Given the description of an element on the screen output the (x, y) to click on. 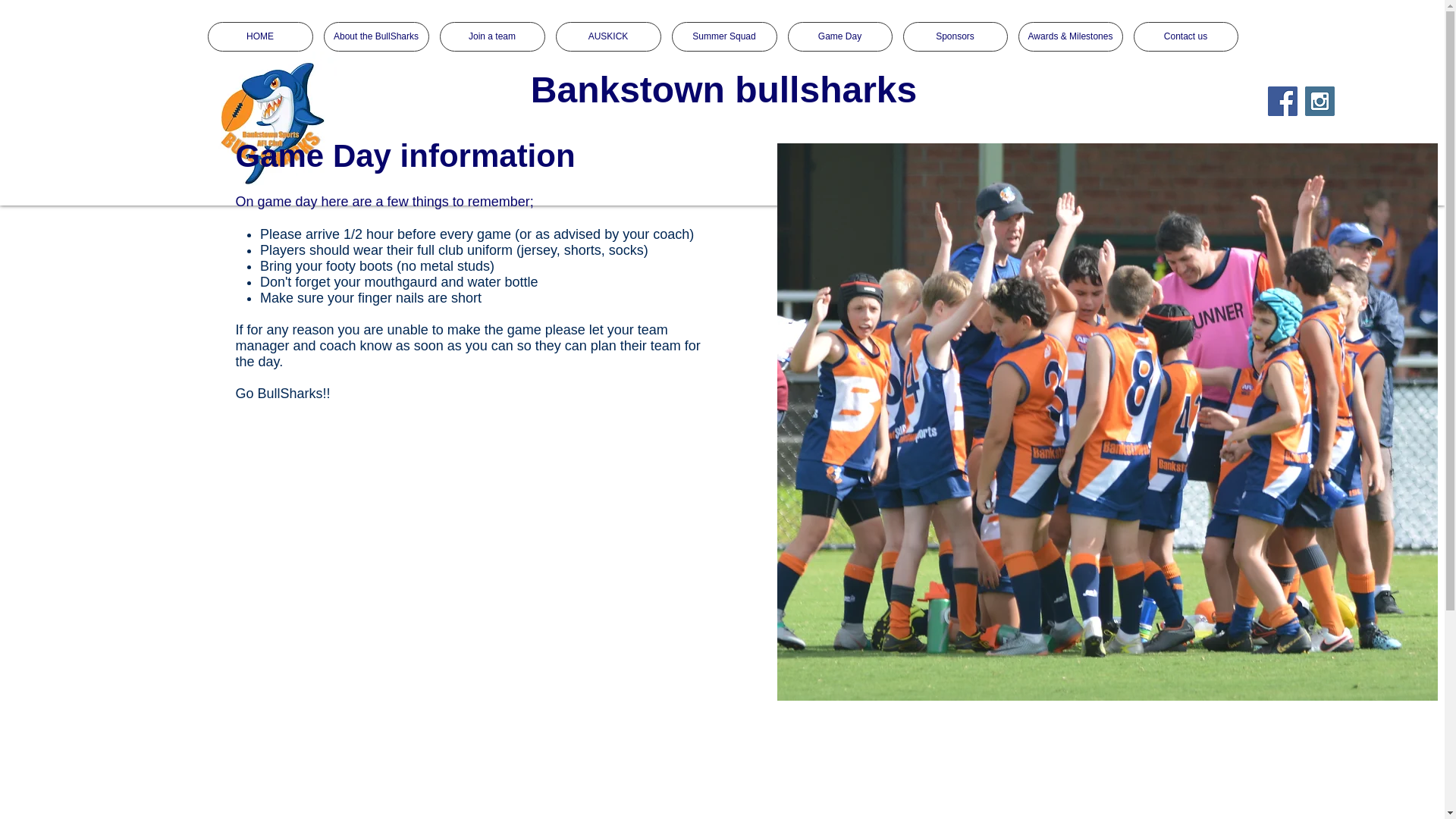
Final logo.JPG (270, 123)
Contact us (1184, 36)
Summer Squad (724, 36)
HOME (260, 36)
